Given the description of an element on the screen output the (x, y) to click on. 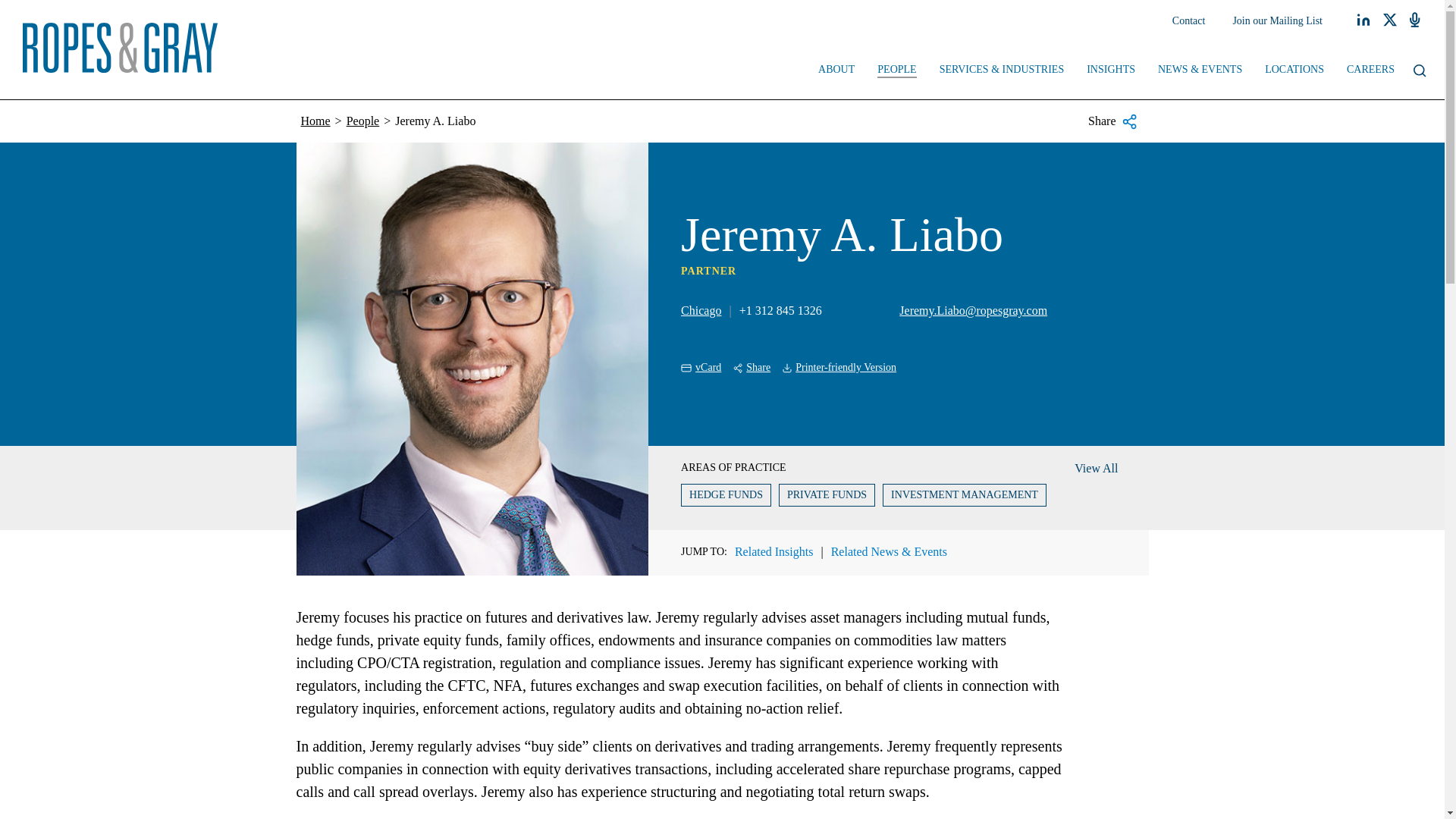
Home (314, 121)
PEOPLE (896, 70)
LOCATIONS (1294, 70)
Printer-friendly Version (839, 367)
vCard (700, 367)
CAREERS (1370, 70)
INSIGHTS (1111, 70)
Share (751, 367)
Join our Mailing List (1277, 21)
People (363, 121)
Contact (1189, 21)
Chicago (700, 309)
Share (1112, 121)
ABOUT (836, 70)
